Given the description of an element on the screen output the (x, y) to click on. 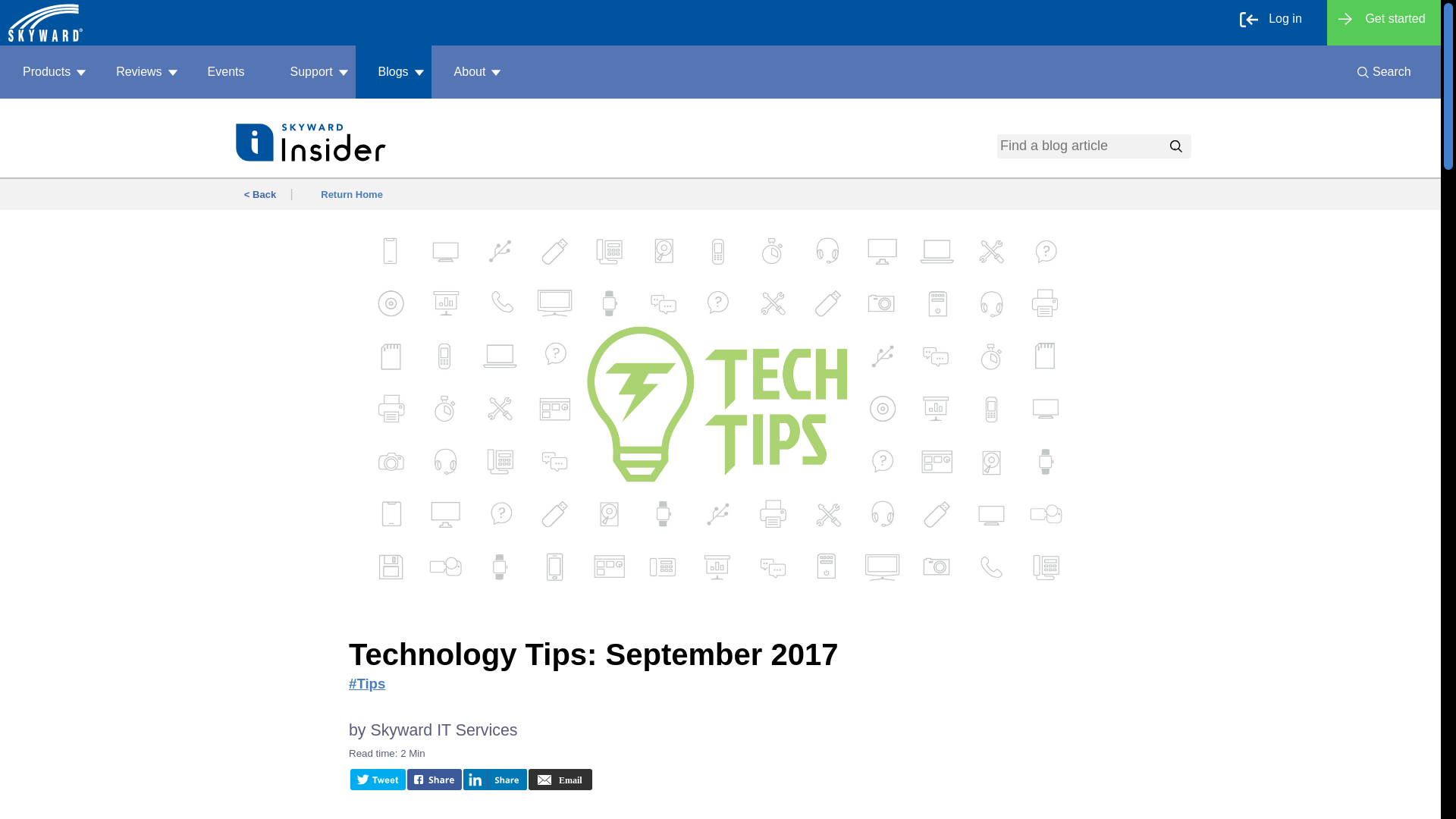
Log in (1277, 22)
Products (46, 71)
Log in (1277, 22)
Click to return home (45, 22)
Products (46, 71)
. (1173, 146)
